Given the description of an element on the screen output the (x, y) to click on. 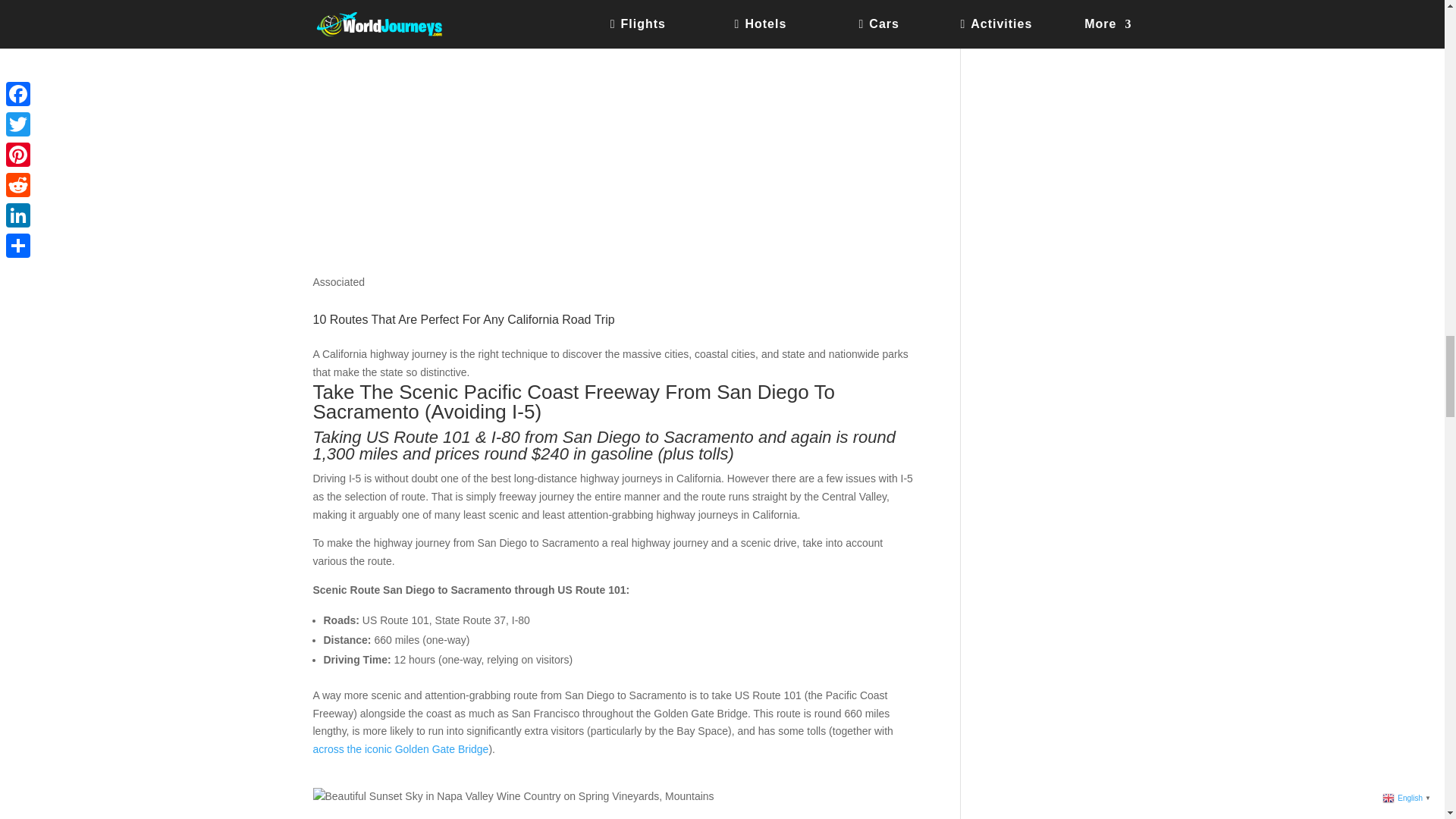
10 Routes That Are Perfect For Any California Road Trip (463, 325)
across the iconic Golden Gate Bridge (400, 748)
